Given the description of an element on the screen output the (x, y) to click on. 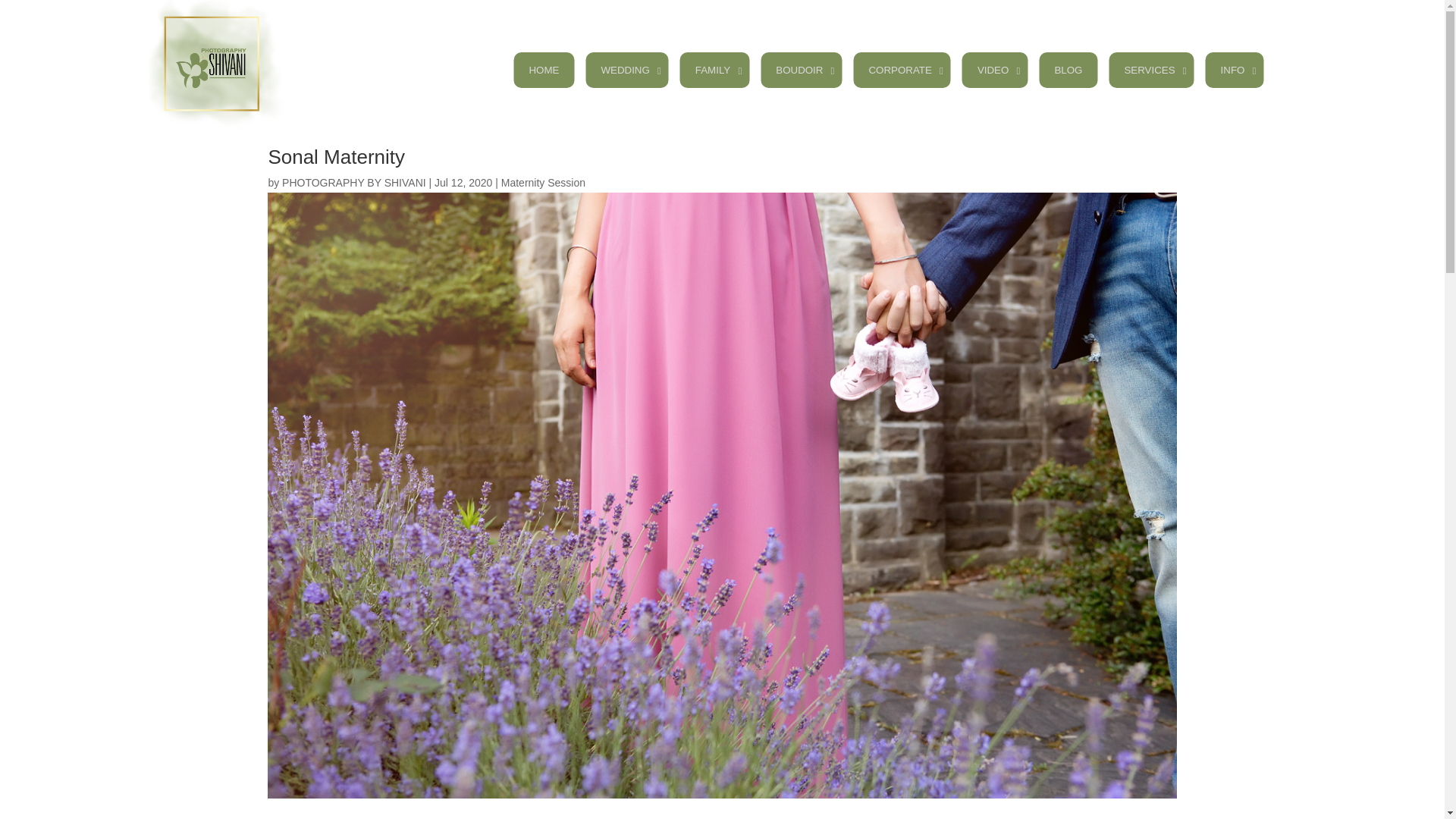
LogoNew (213, 64)
Posts by PHOTOGRAPHY BY SHIVANI (354, 182)
HOME (543, 69)
